Given the description of an element on the screen output the (x, y) to click on. 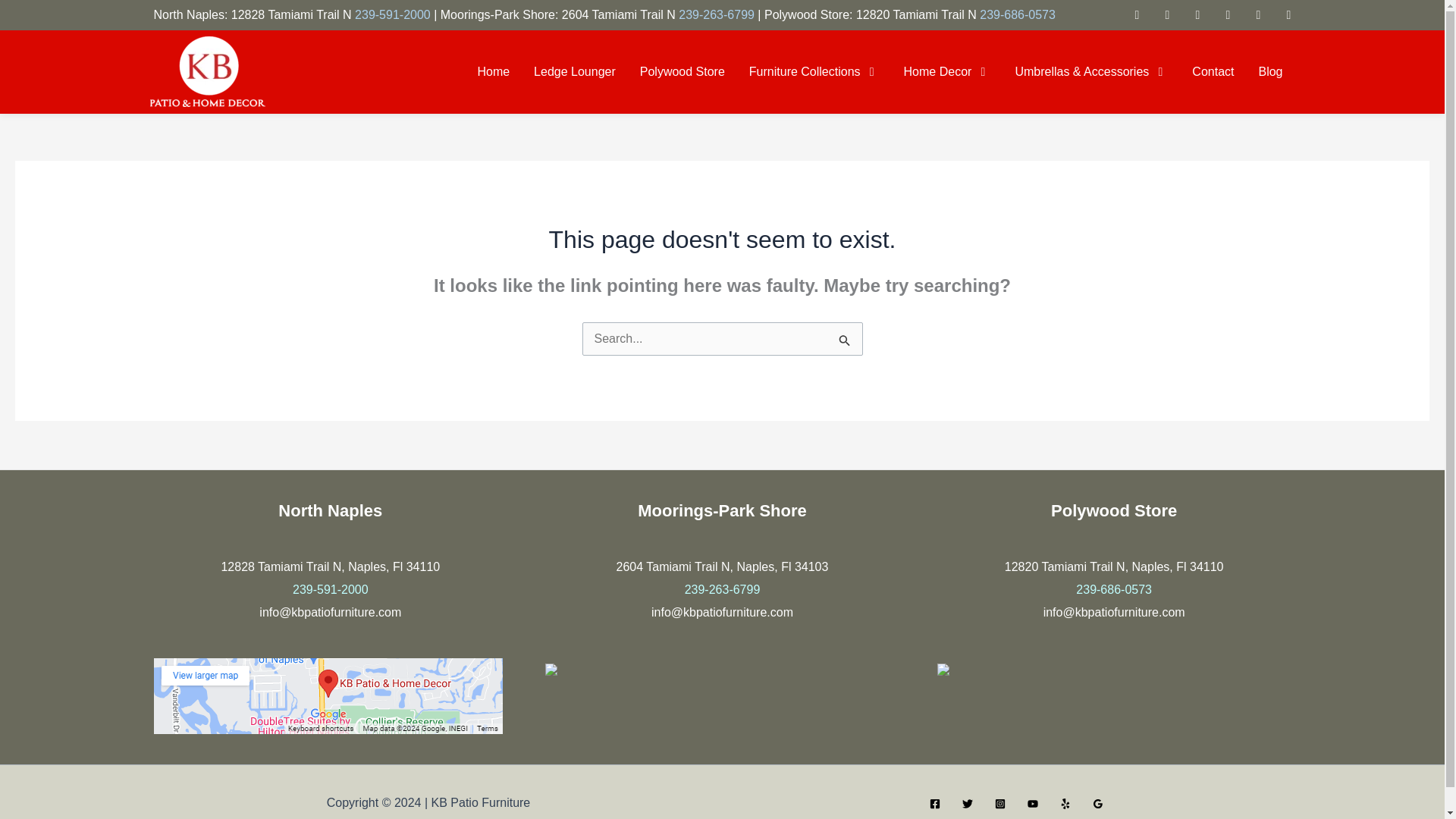
Furniture Collections (814, 71)
Ledge Lounger (574, 71)
239-263-6799 (716, 14)
239-591-2000 (392, 14)
239-686-0573 (1017, 14)
Polywood Store (682, 71)
Home (493, 71)
